Given the description of an element on the screen output the (x, y) to click on. 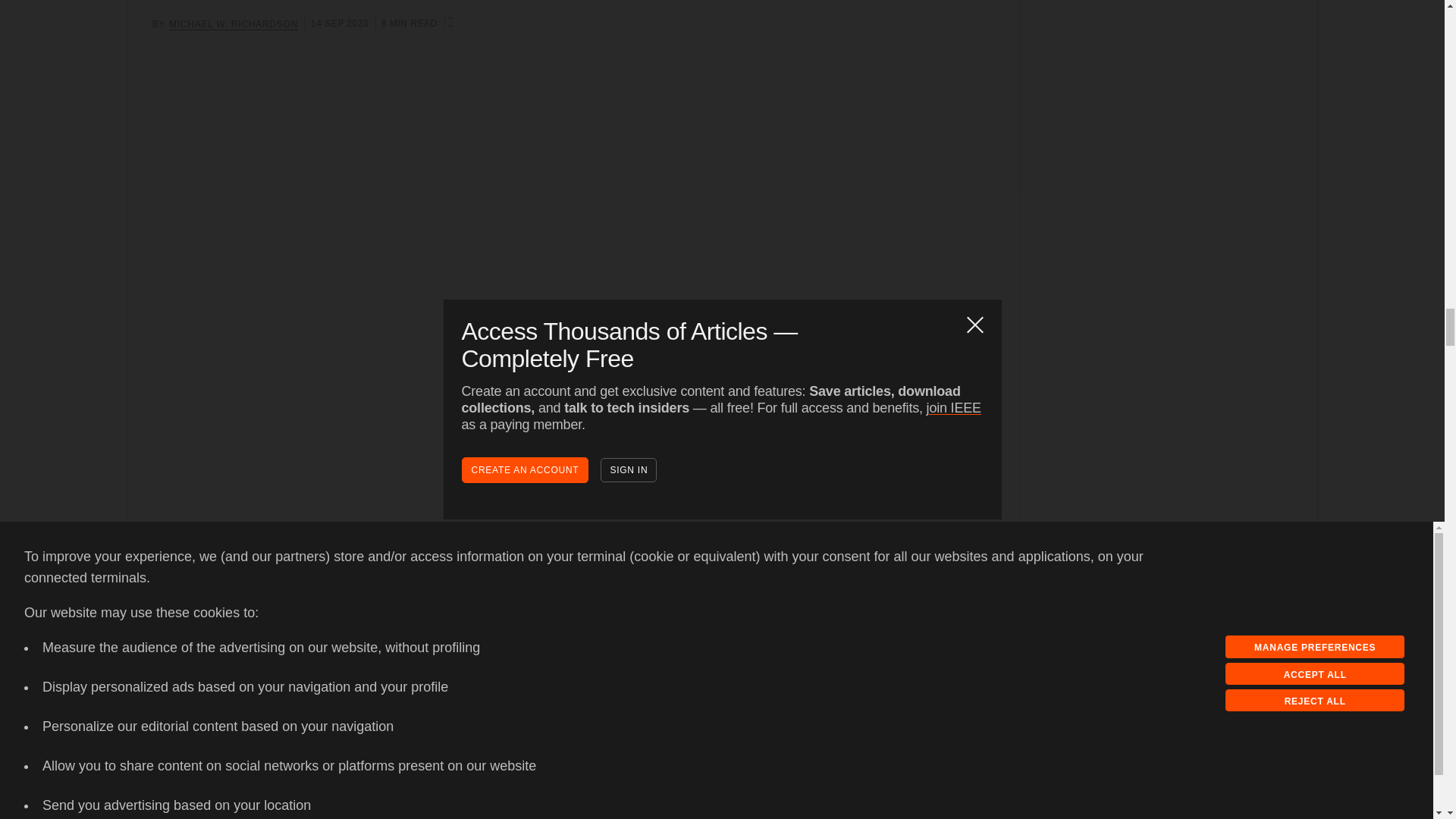
Copy this link to clipboard (192, 642)
